Given the description of an element on the screen output the (x, y) to click on. 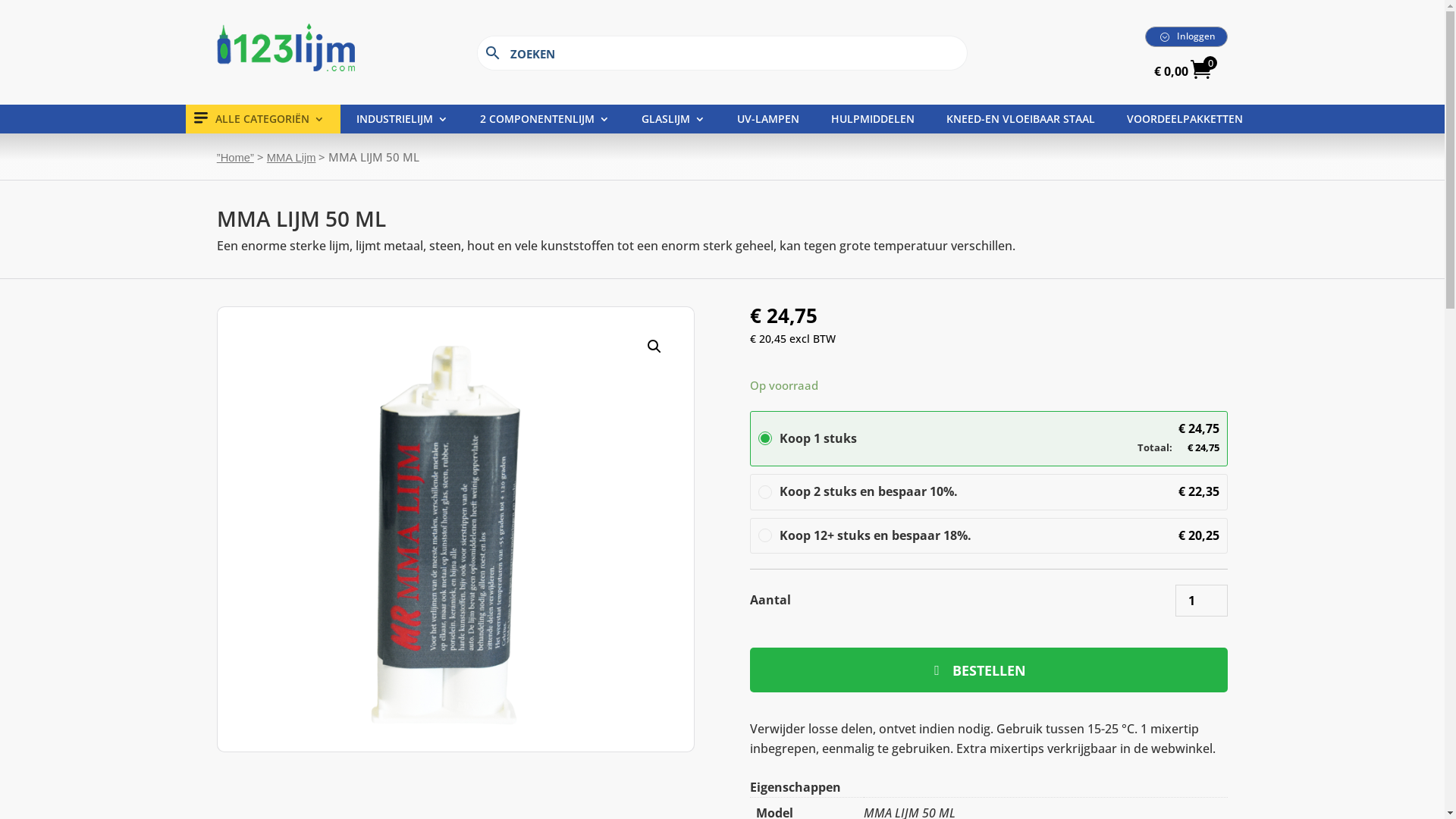
Inloggen Element type: text (1186, 36)
HULPMIDDELEN Element type: text (872, 121)
GLASLIJM Element type: text (673, 121)
INDUSTRIELIJM Element type: text (402, 121)
MMA Lijm Element type: text (291, 157)
MMA lijm 50 ml-550x550h Element type: hover (439, 528)
123lijmlogo-263x100 Element type: hover (285, 46)
BESTELLEN Element type: text (988, 669)
VOORDEELPAKKETTEN Element type: text (1184, 121)
2 COMPONENTENLIJM Element type: text (544, 121)
KNEED-EN VLOEIBAAR STAAL Element type: text (1020, 121)
UV-LAMPEN Element type: text (768, 121)
